Given the description of an element on the screen output the (x, y) to click on. 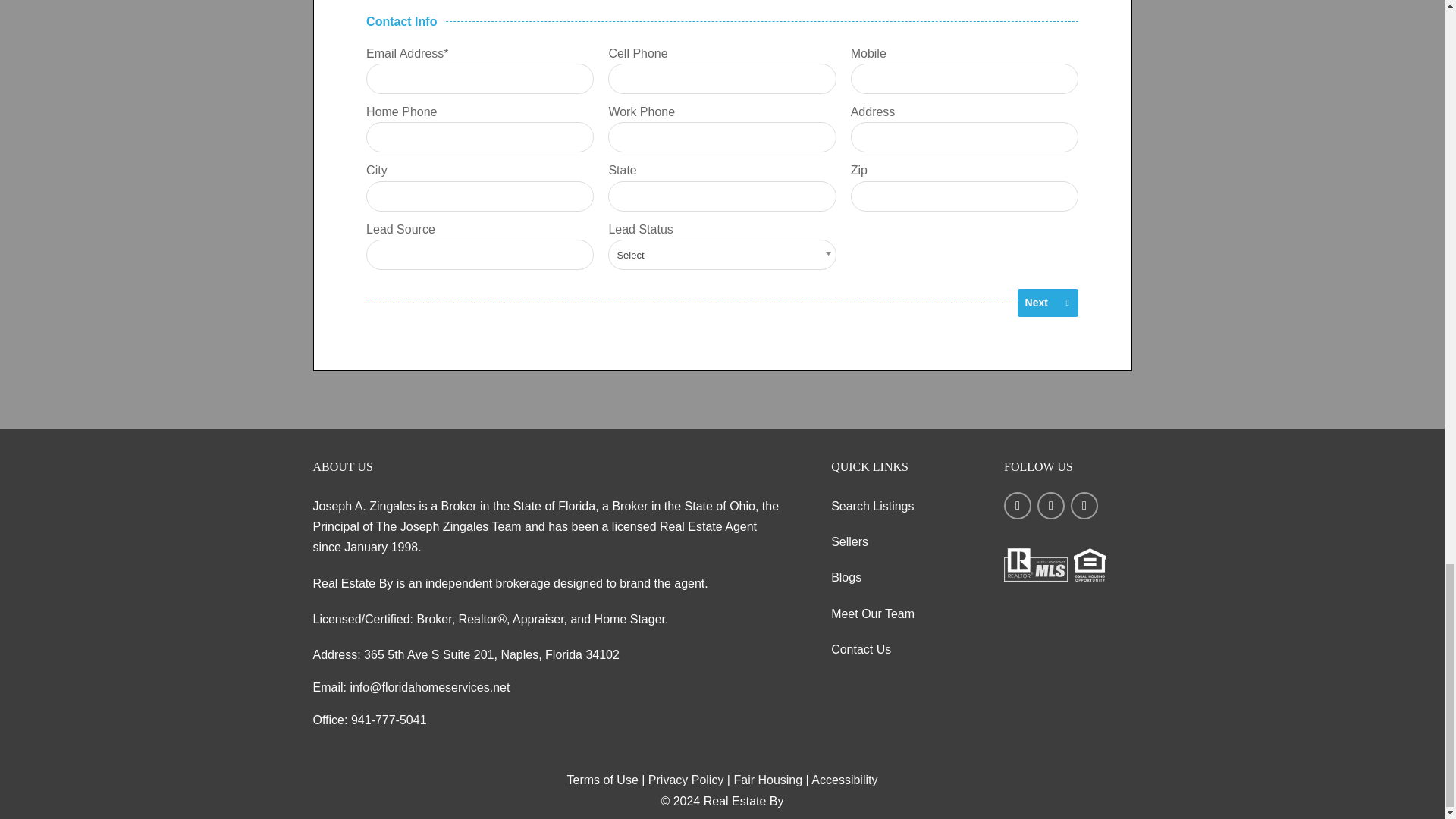
FOLLOW US (1067, 515)
